Given the description of an element on the screen output the (x, y) to click on. 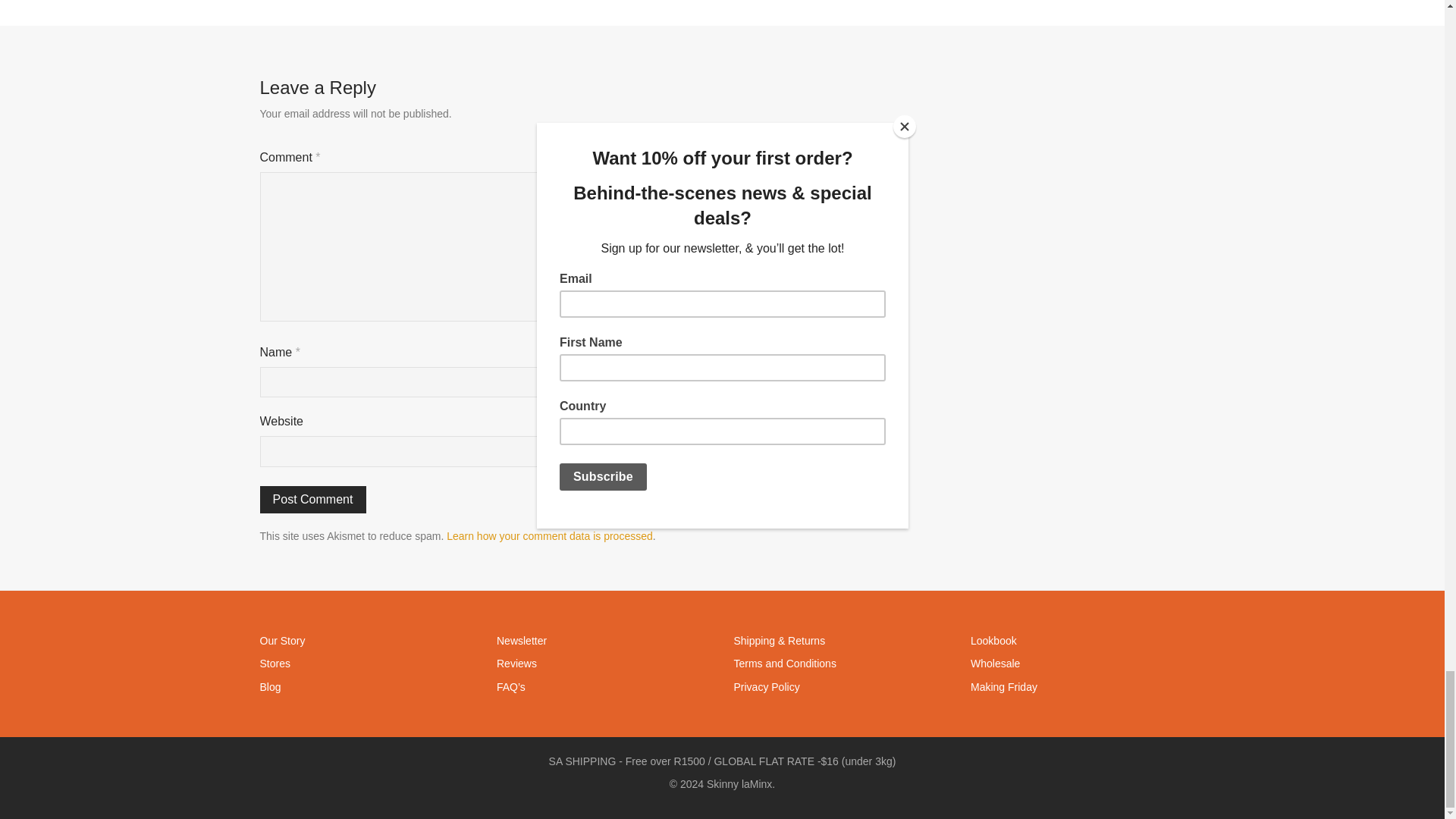
Post Comment (312, 499)
